Given the description of an element on the screen output the (x, y) to click on. 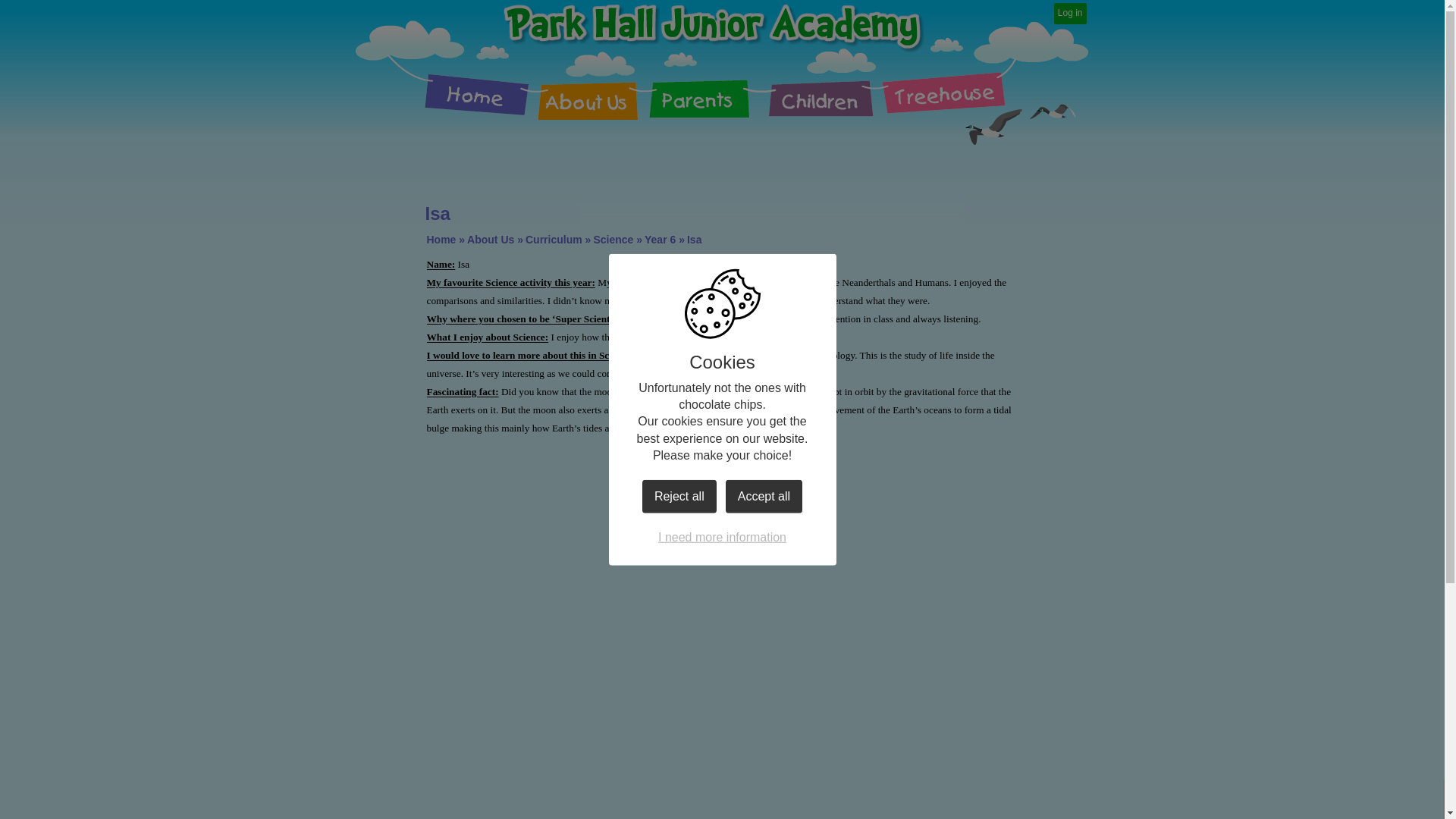
Log in (1070, 13)
Curriculum (553, 239)
Isa (694, 239)
About Us (592, 86)
Science (612, 239)
About Us (490, 239)
Home Page (712, 26)
Home (440, 239)
Year 6 (660, 239)
Home Page (712, 26)
Home (462, 86)
